Given the description of an element on the screen output the (x, y) to click on. 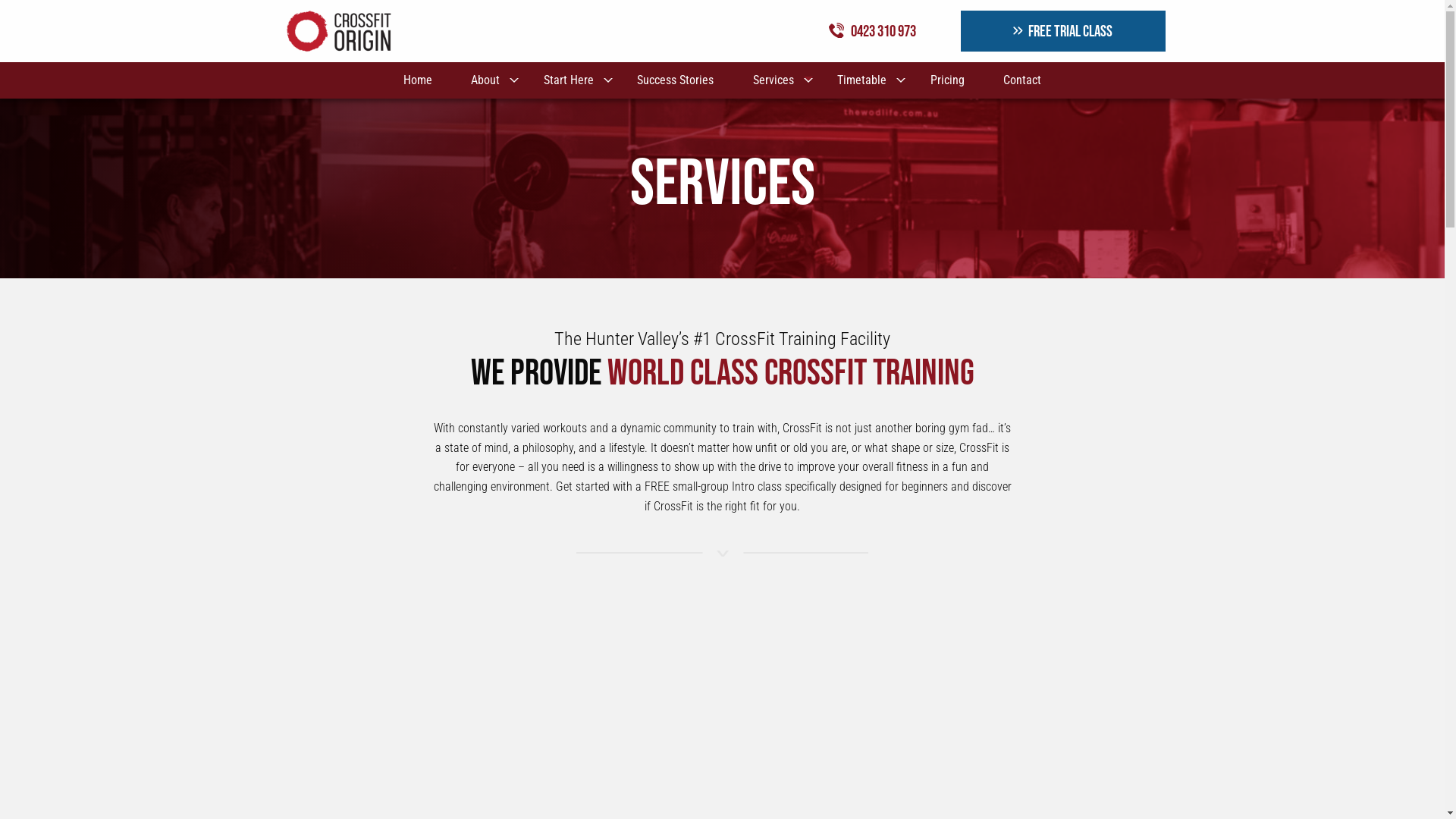
Success Stories Element type: text (675, 80)
Contact Element type: text (1021, 80)
  0423 310 973 Element type: text (874, 30)
Timetable Element type: text (864, 80)
Home Element type: text (417, 80)
Home... Element type: hover (338, 29)
FREE TRIAL CLASS Element type: text (1062, 30)
Services Element type: text (775, 80)
About Element type: text (487, 80)
Start Here Element type: text (571, 80)
Pricing Element type: text (946, 80)
